Given the description of an element on the screen output the (x, y) to click on. 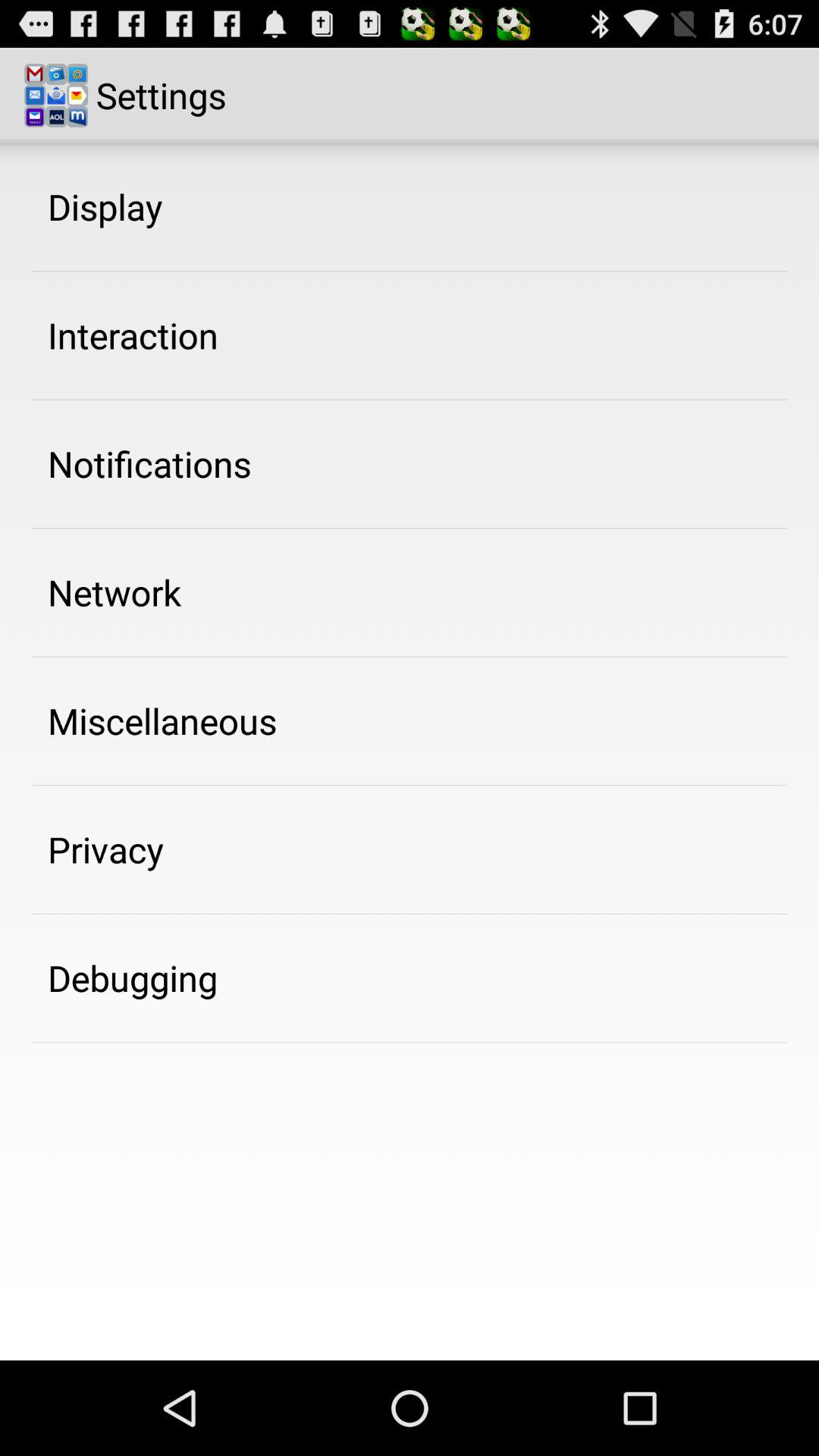
jump until interaction (132, 335)
